Given the description of an element on the screen output the (x, y) to click on. 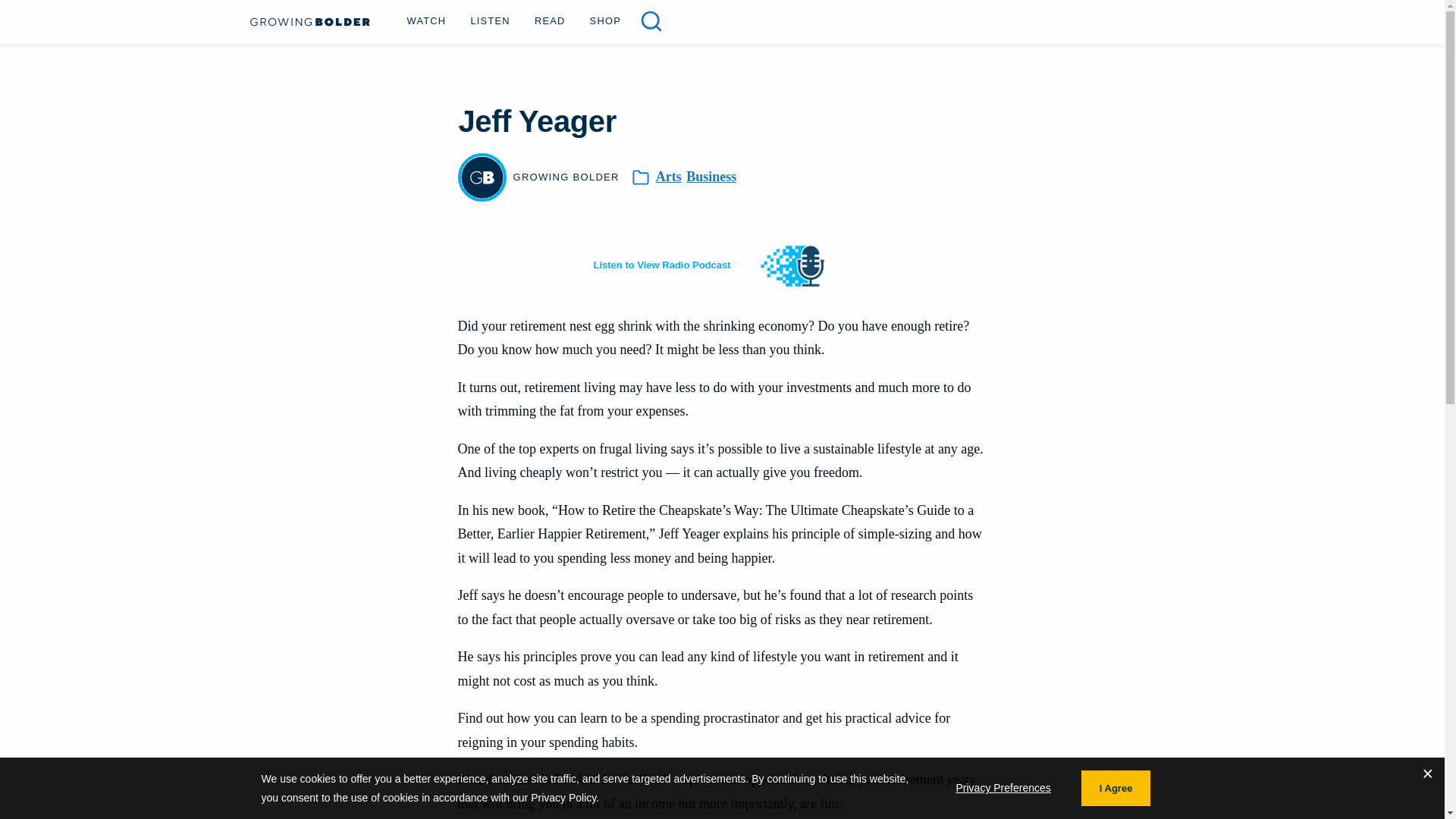
Business (710, 177)
READ (550, 20)
Search (651, 22)
Arts (668, 177)
SHOP (605, 20)
LISTEN (489, 20)
Link to: Business (710, 177)
Link to: Arts (668, 177)
Link to: Listen (489, 20)
WATCH (426, 20)
